Given the description of an element on the screen output the (x, y) to click on. 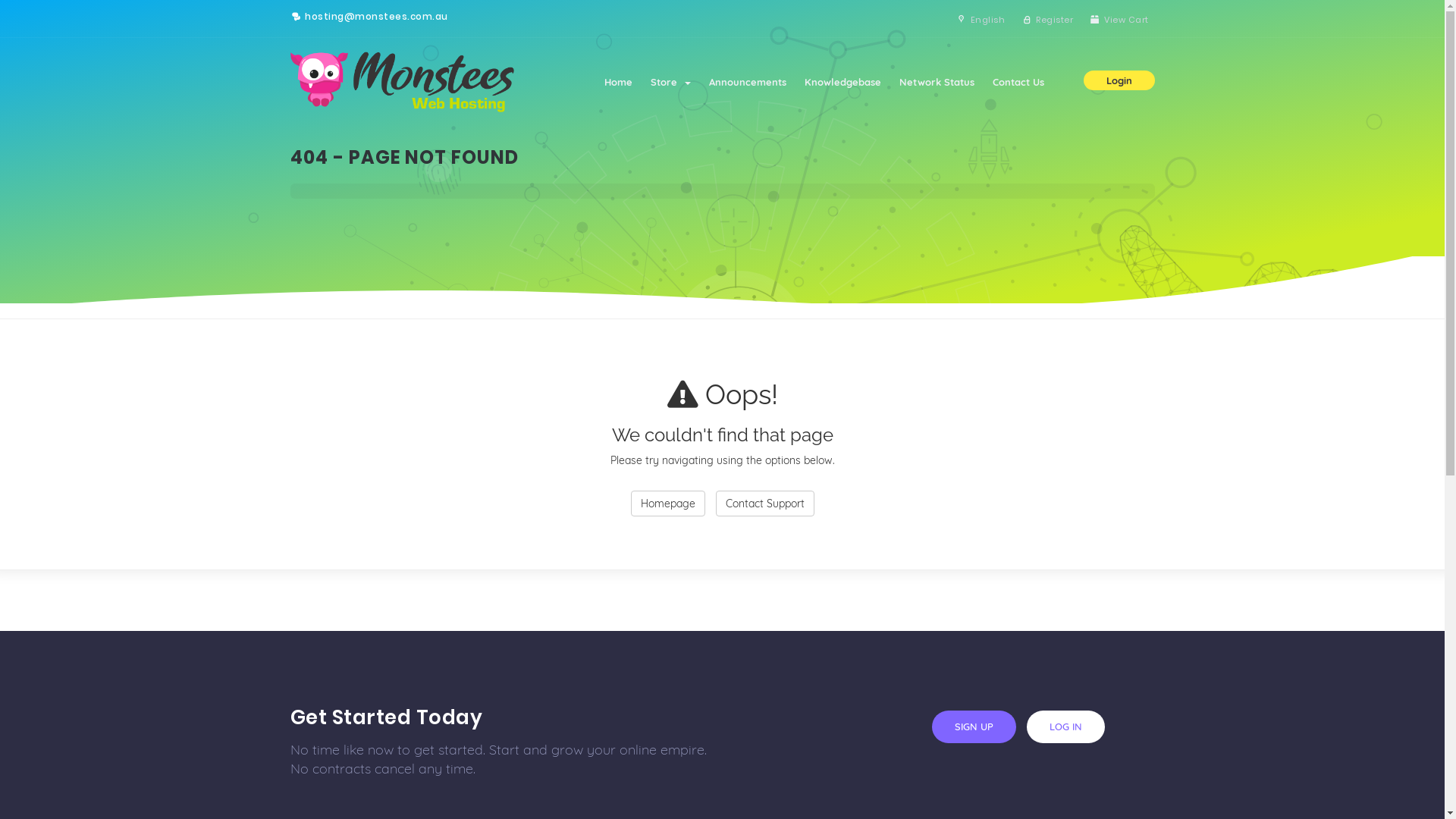
SIGN UP Element type: text (973, 726)
Contact Us Element type: text (1017, 81)
View Cart Element type: text (1118, 19)
English Element type: text (979, 19)
Announcements Element type: text (746, 81)
Register Element type: text (1046, 19)
Homepage Element type: text (667, 503)
Home Element type: text (617, 81)
Login Element type: text (1118, 80)
Contact Support Element type: text (764, 503)
Store   Element type: text (670, 81)
Knowledgebase Element type: text (841, 81)
Network Status Element type: text (936, 81)
LOG IN Element type: text (1065, 726)
